Given the description of an element on the screen output the (x, y) to click on. 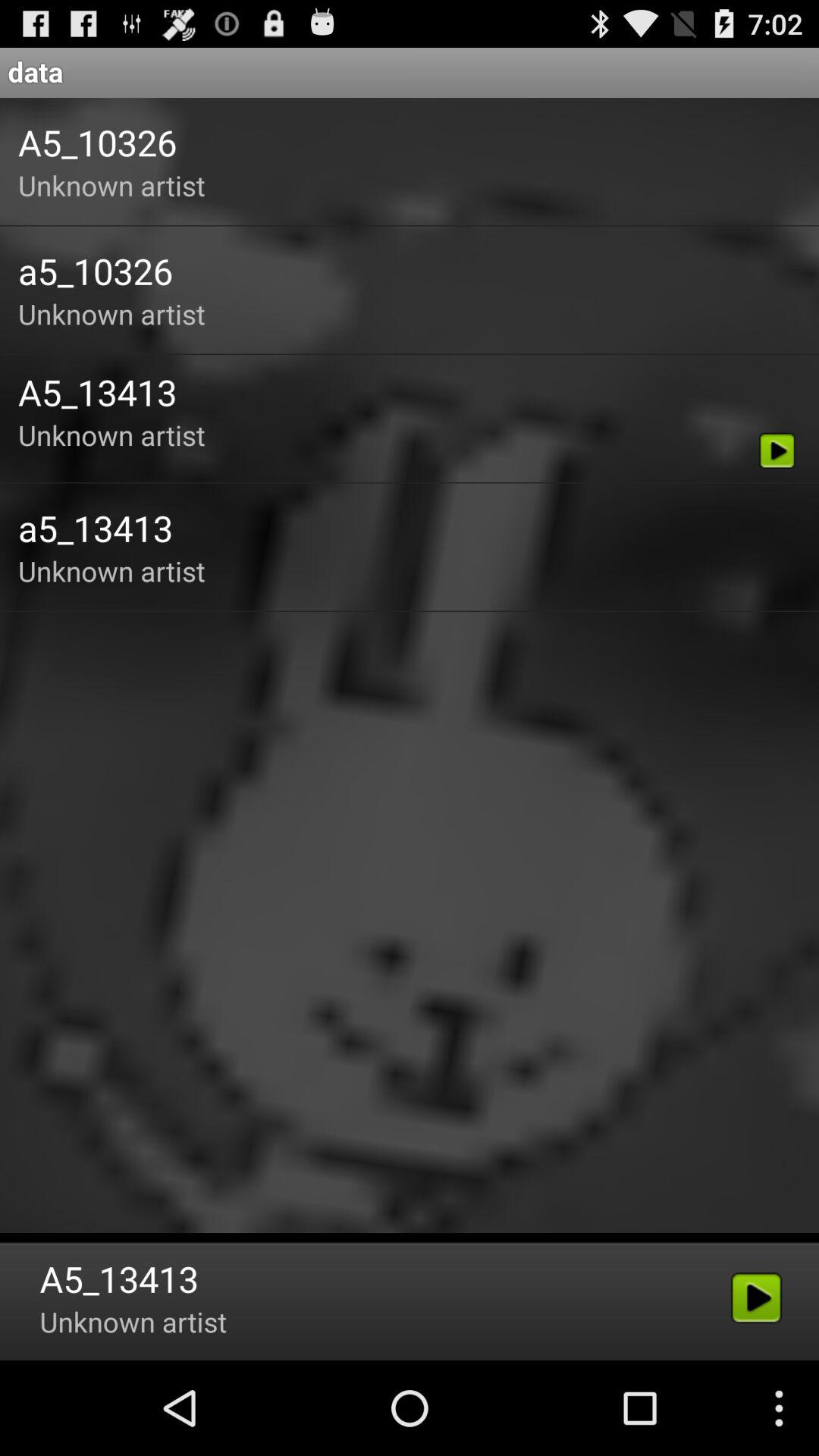
click on the last play icon (756, 1298)
select the smaller green play icon (777, 450)
